Given the description of an element on the screen output the (x, y) to click on. 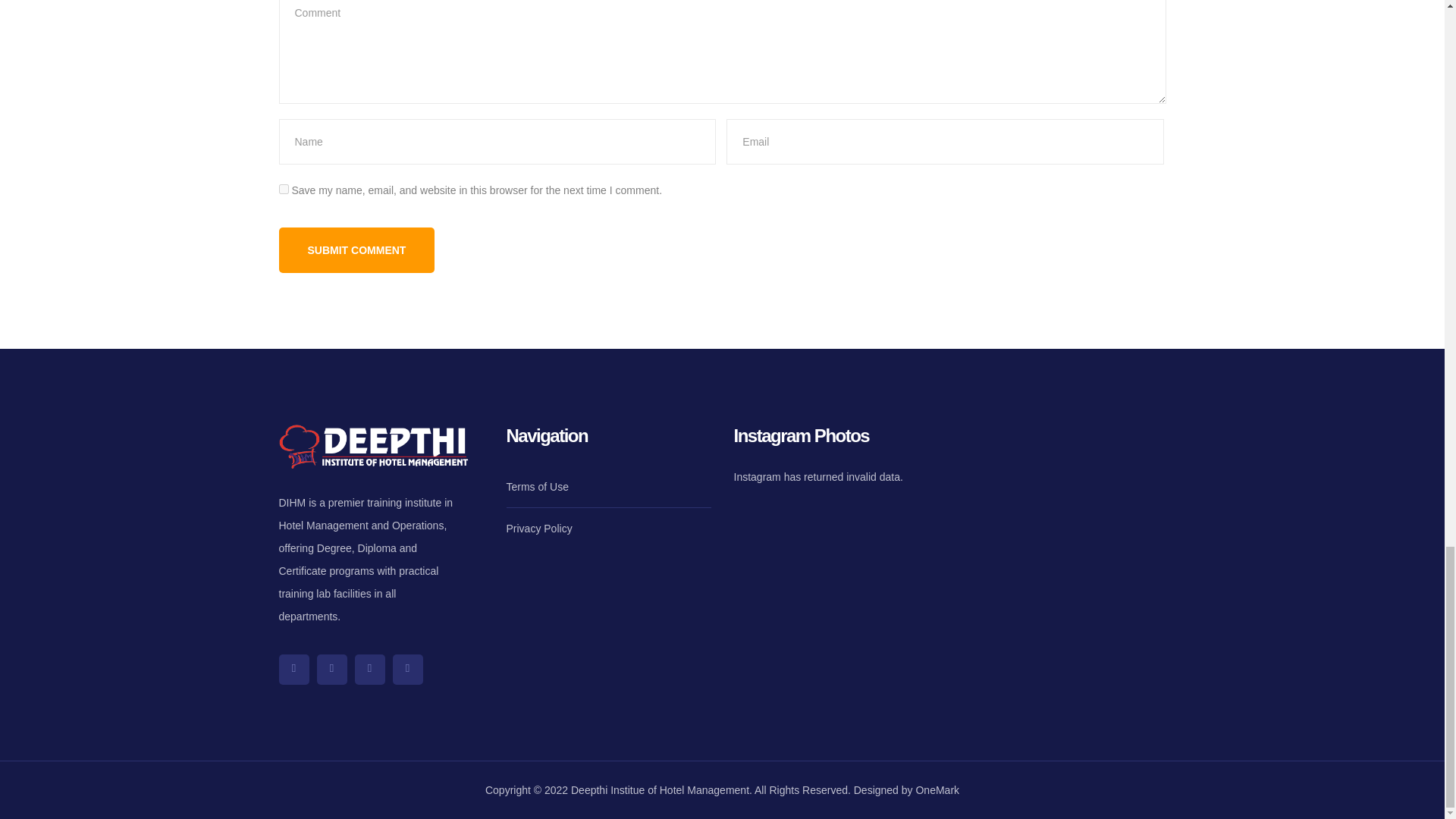
instagram (370, 669)
youtube (408, 669)
yes (283, 189)
facebook (332, 669)
Submit Comment (357, 249)
twitter (293, 669)
Terms of Use (537, 486)
Deepthi Institute Of Hotel Management (1063, 482)
Submit Comment (357, 249)
Privacy Policy (539, 527)
